Given the description of an element on the screen output the (x, y) to click on. 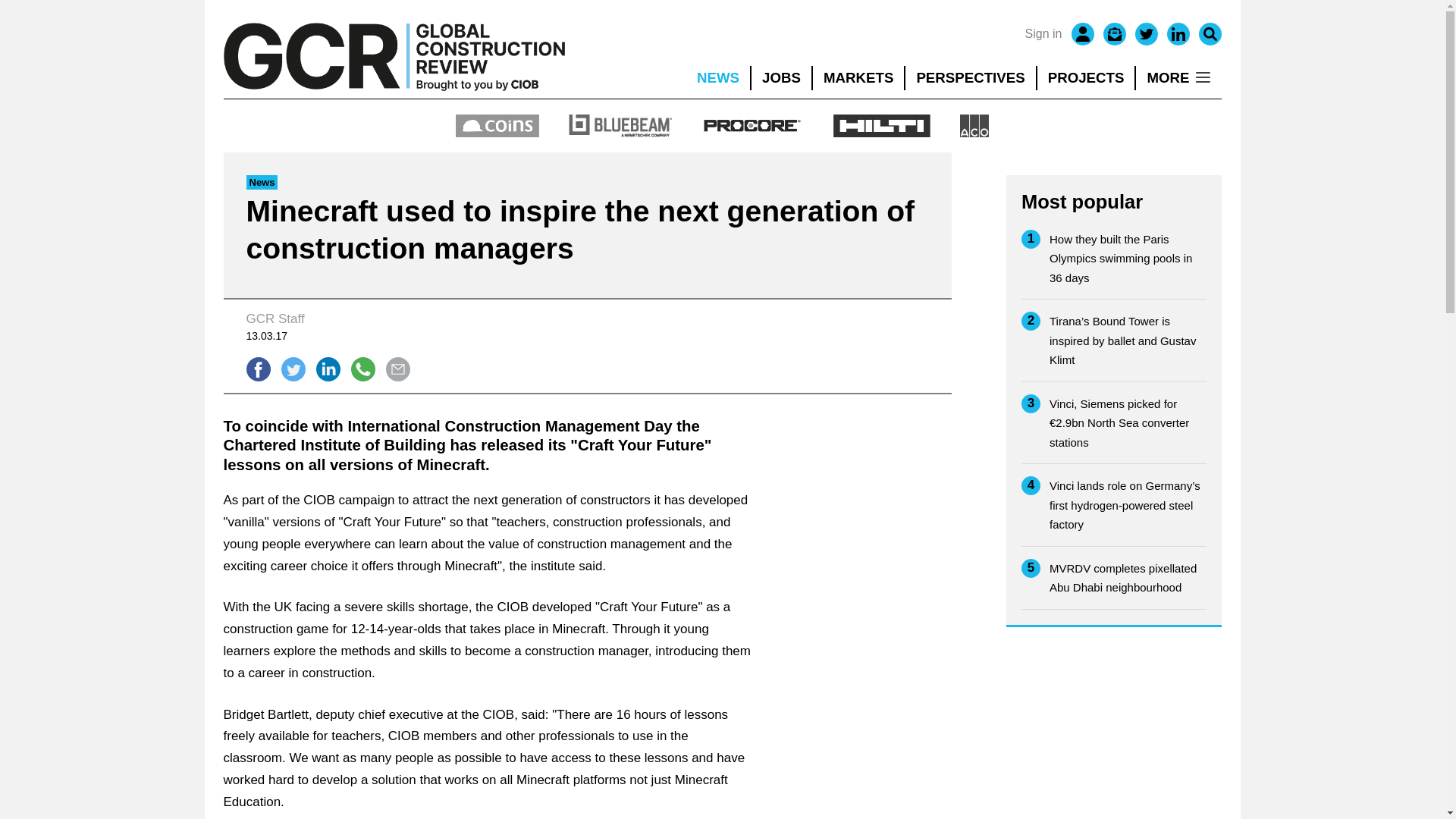
MARKETS (858, 78)
Tweet (292, 369)
PROJECTS (1085, 78)
MORE (1178, 78)
Share on Facebook (257, 369)
Share on WhatsApp (362, 369)
PERSPECTIVES (970, 78)
NEWS (717, 78)
Share on LinkedIn (327, 369)
Sign in (1043, 34)
JOBS (780, 78)
Send email (397, 369)
